Given the description of an element on the screen output the (x, y) to click on. 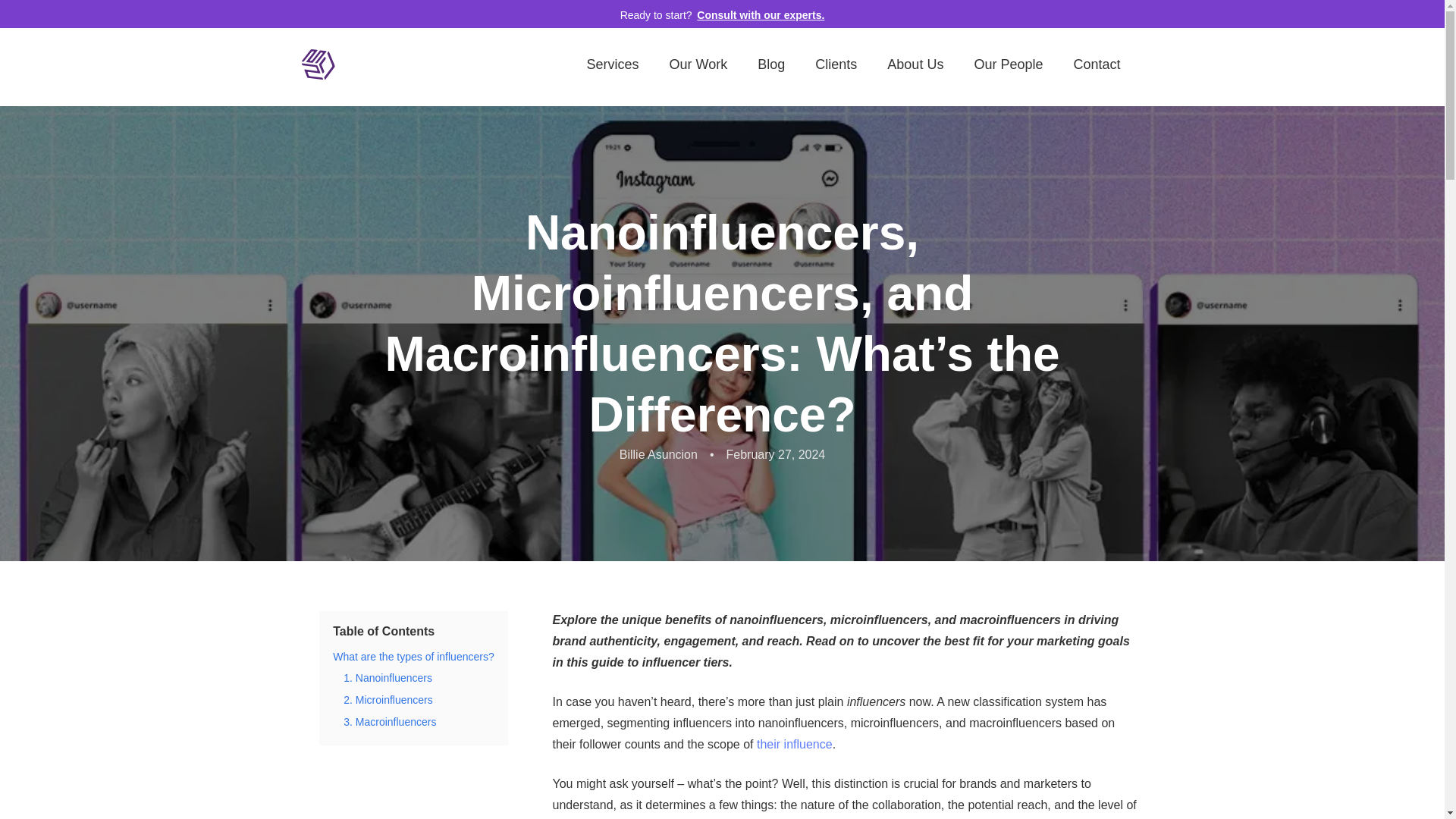
2. Microinfluencers (387, 699)
Services (612, 63)
Our People (1008, 63)
Clients (835, 63)
Consult with our experts. (760, 15)
3. Macroinfluencers (389, 721)
their influence (794, 744)
Our Work (697, 63)
What are the types of influencers? (413, 656)
Contact (1096, 63)
